Given the description of an element on the screen output the (x, y) to click on. 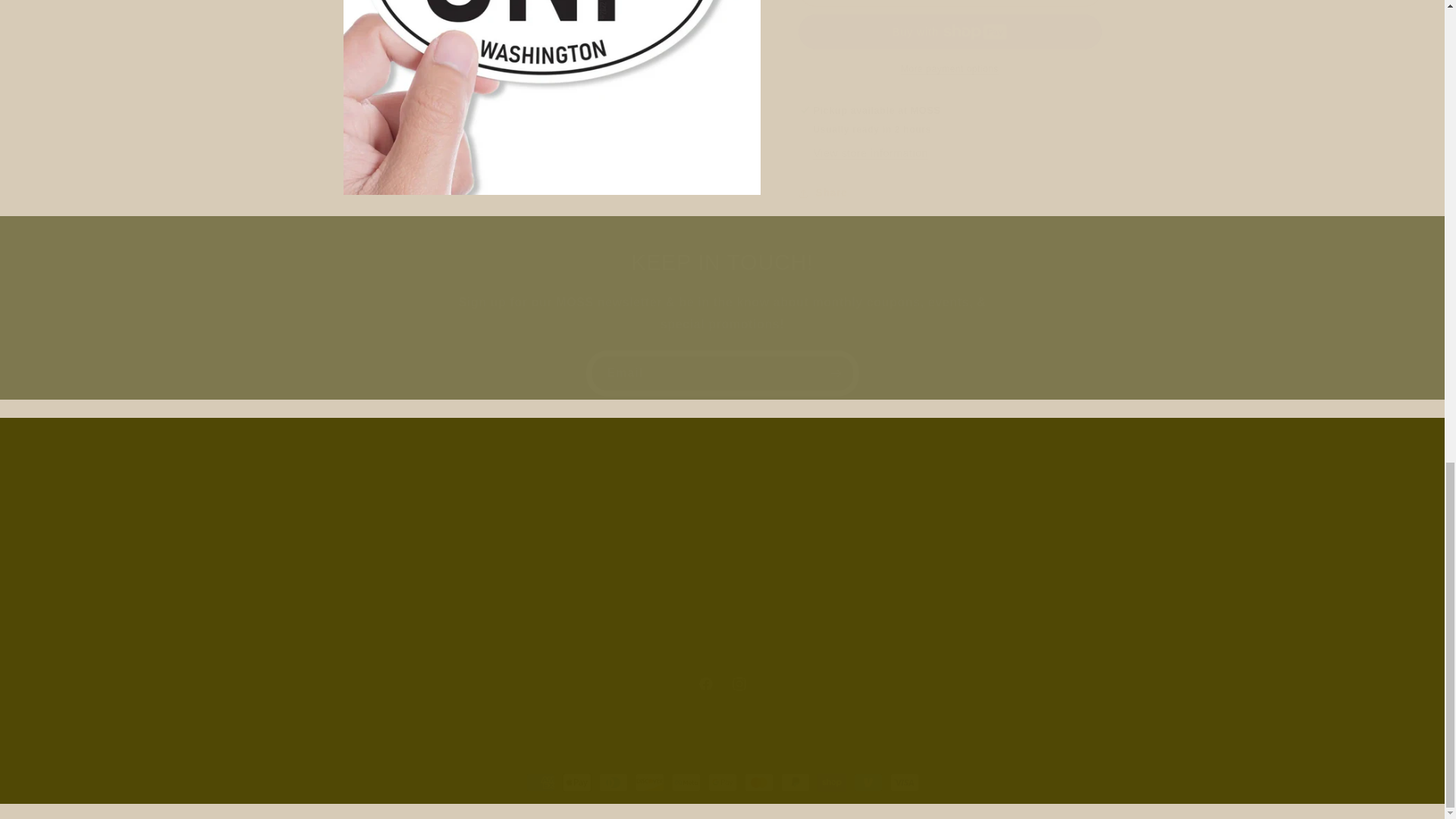
KEEP IN TOUCH! (721, 262)
Email (722, 373)
